Given the description of an element on the screen output the (x, y) to click on. 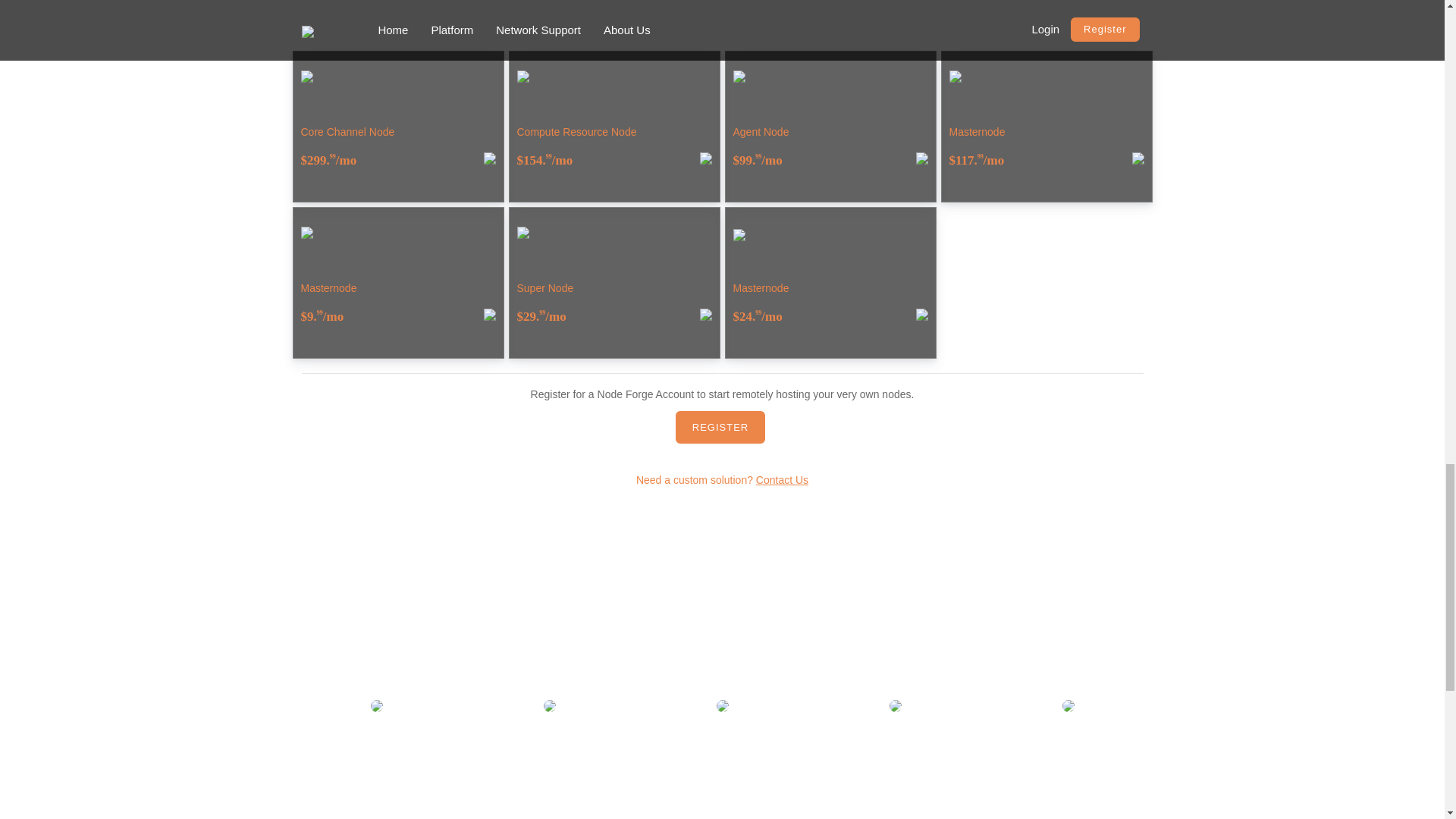
REGISTER (720, 427)
Contact Us (781, 480)
